Given the description of an element on the screen output the (x, y) to click on. 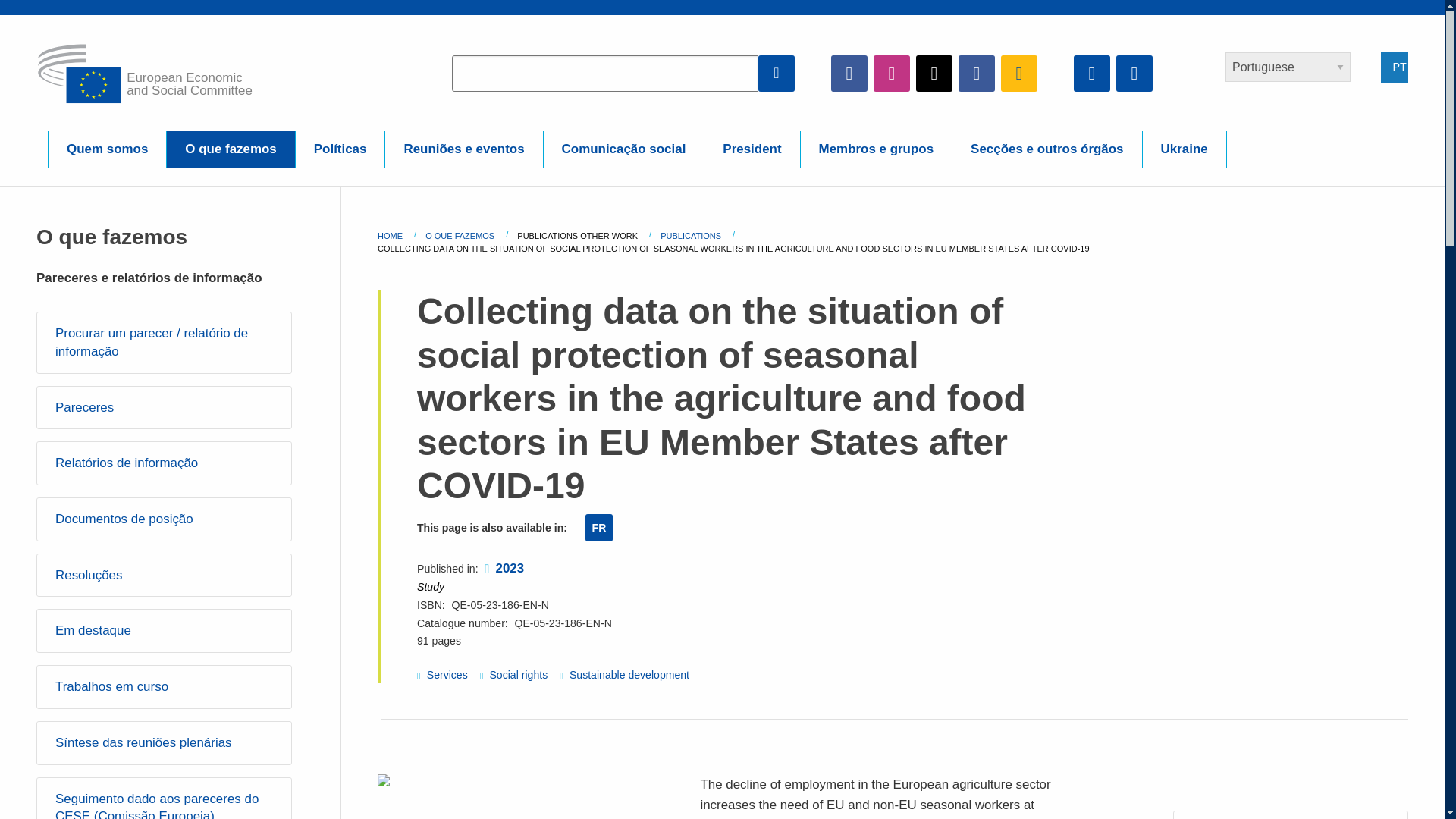
Apply (776, 72)
